Given the description of an element on the screen output the (x, y) to click on. 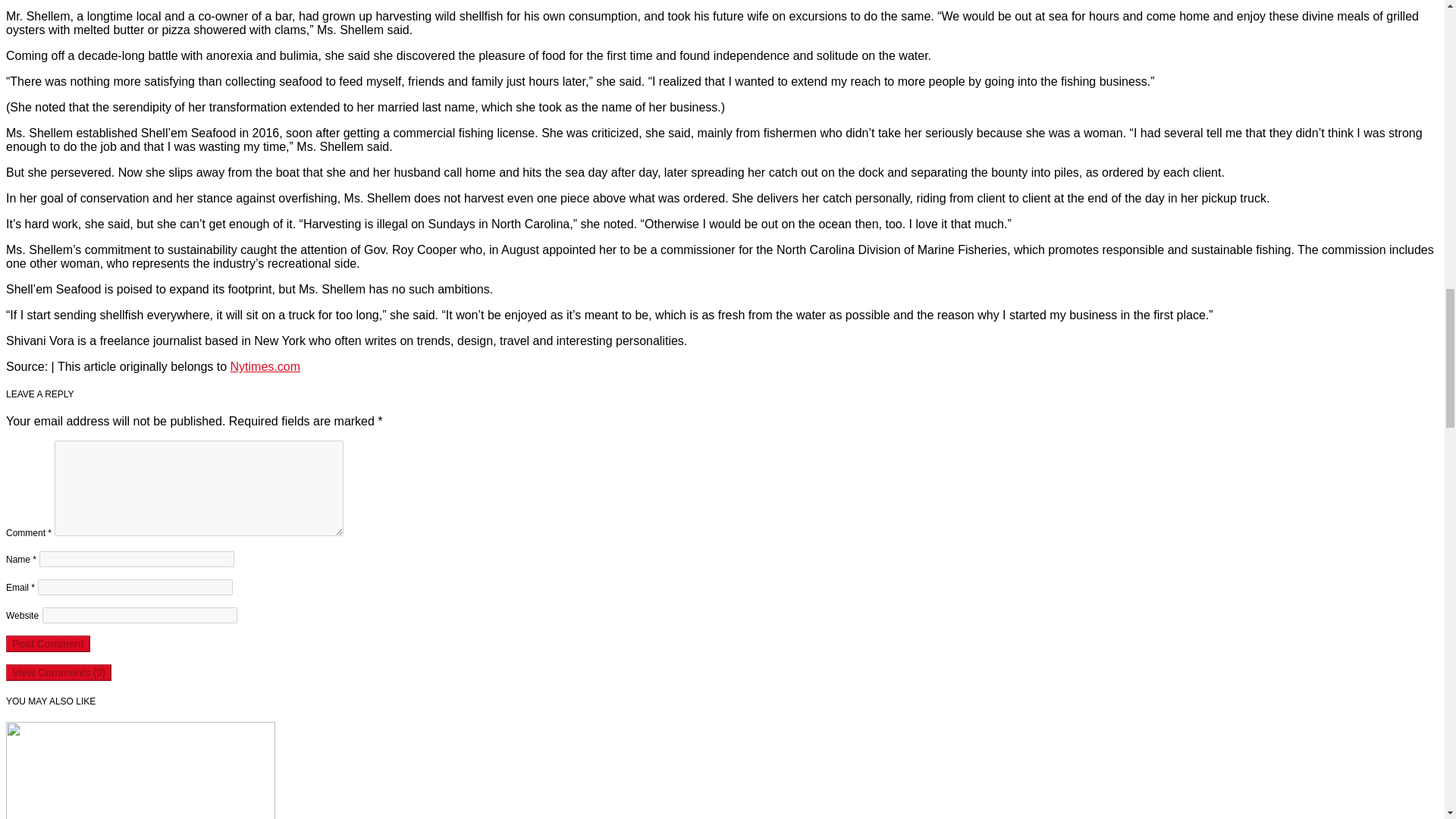
Post Comment (47, 643)
